Given the description of an element on the screen output the (x, y) to click on. 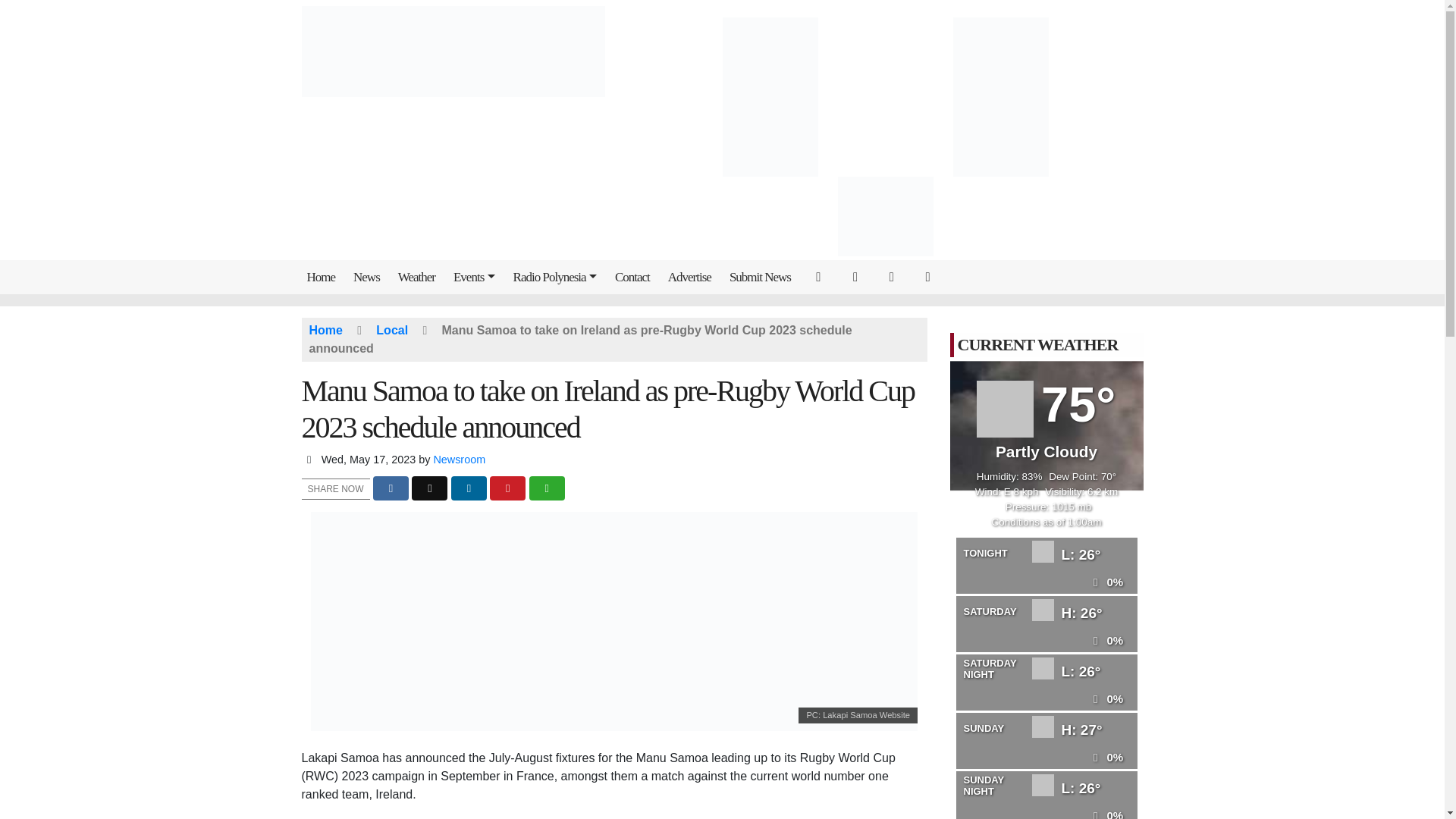
Follow us on Instagram (895, 276)
Events (477, 276)
Posts by Newsroom (458, 459)
Follow us on Facebook (859, 276)
Weather (419, 276)
News (369, 276)
Radio Polynesia (558, 276)
Get our Android App (930, 276)
Home (324, 276)
